Given the description of an element on the screen output the (x, y) to click on. 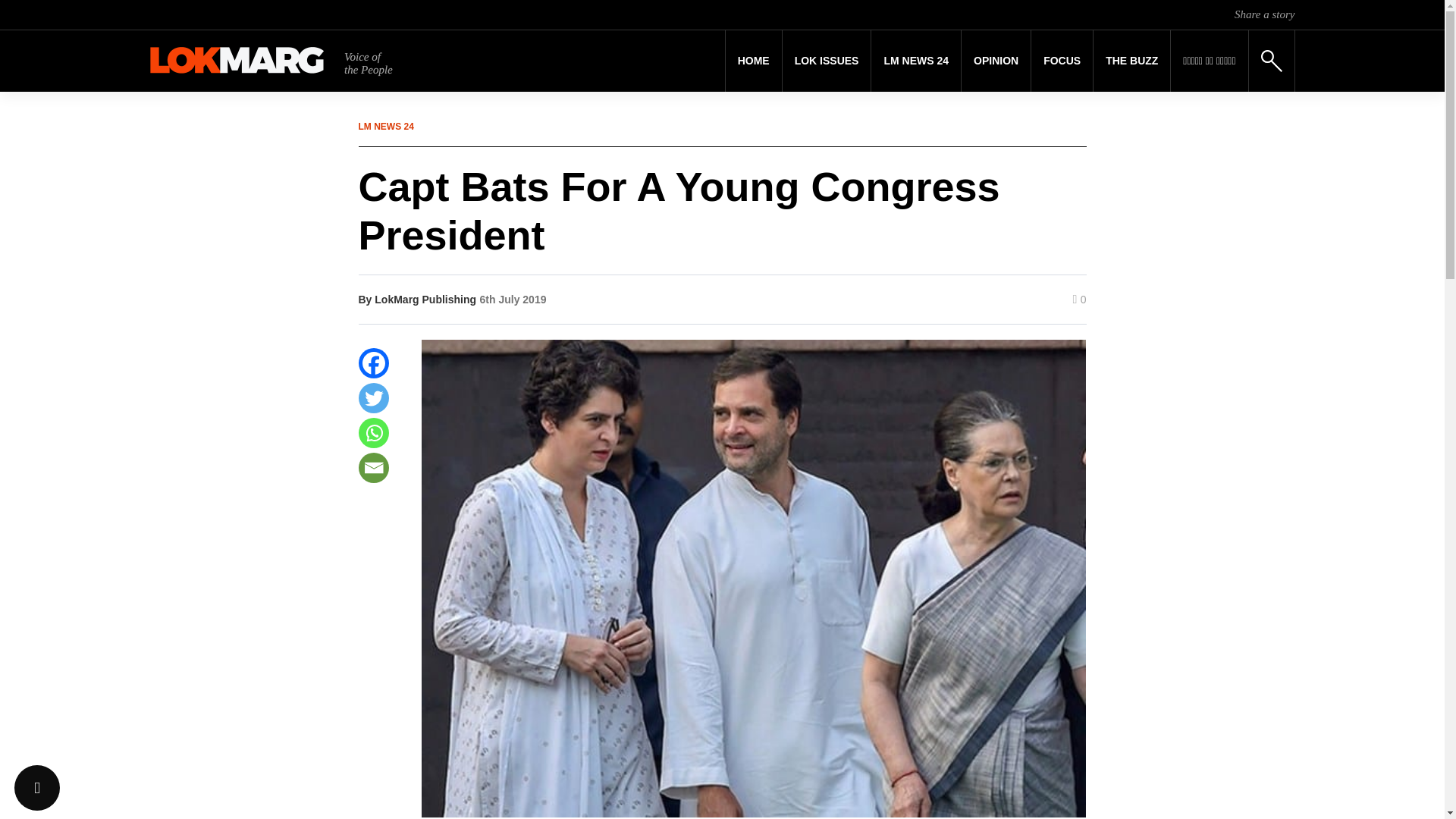
LM News 24 (915, 60)
HOME (753, 60)
Share a story (1264, 14)
OPINION (995, 60)
Focus (1061, 60)
LokMarg Publishing (425, 299)
Home (753, 60)
THE BUZZ (1131, 60)
THE BUZZ (1131, 60)
LM NEWS 24 (915, 60)
